Given the description of an element on the screen output the (x, y) to click on. 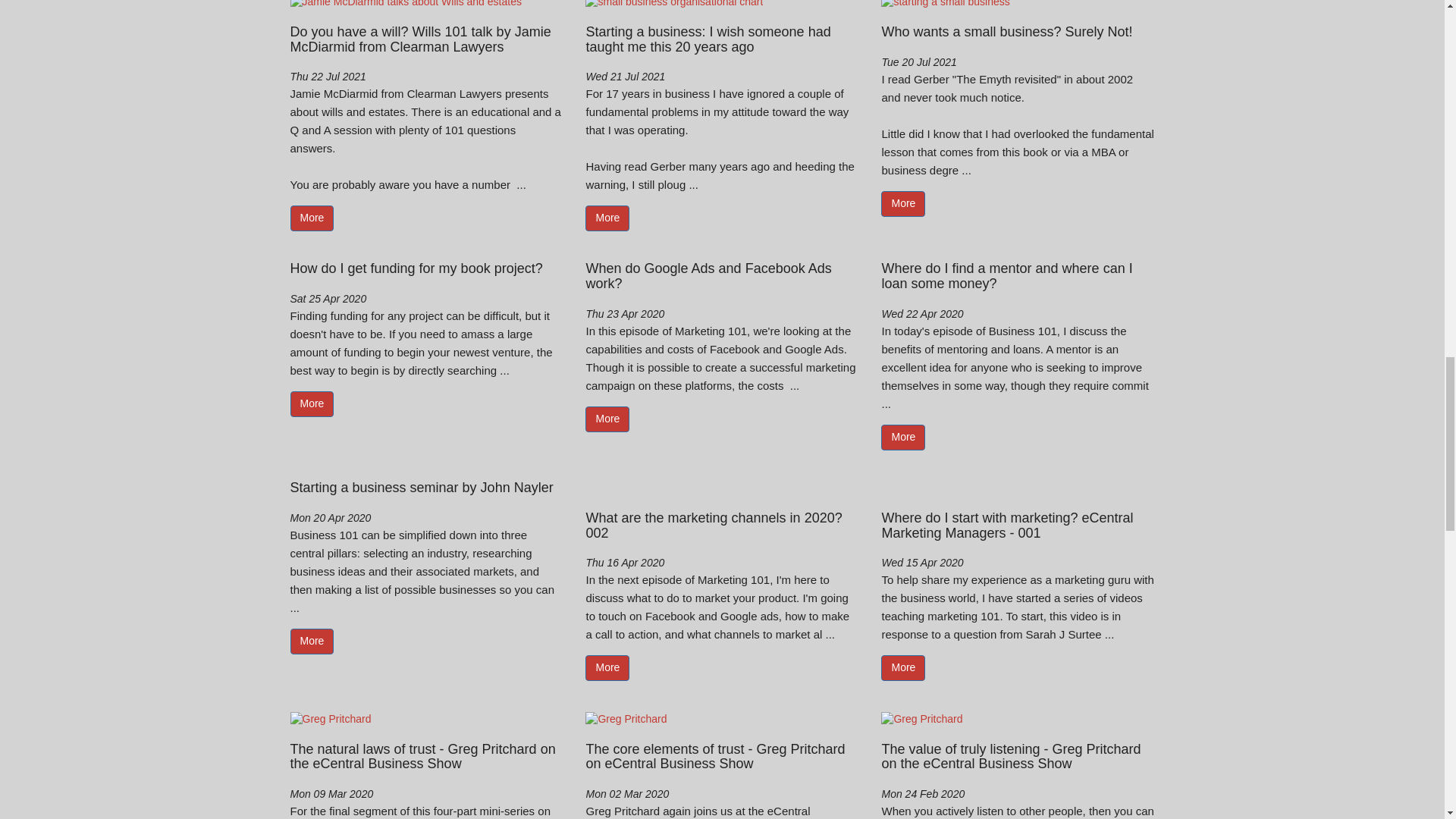
More (311, 217)
More (902, 437)
More (606, 419)
More (311, 403)
More (902, 667)
More (311, 641)
More (606, 667)
More (902, 203)
More (606, 217)
